Given the description of an element on the screen output the (x, y) to click on. 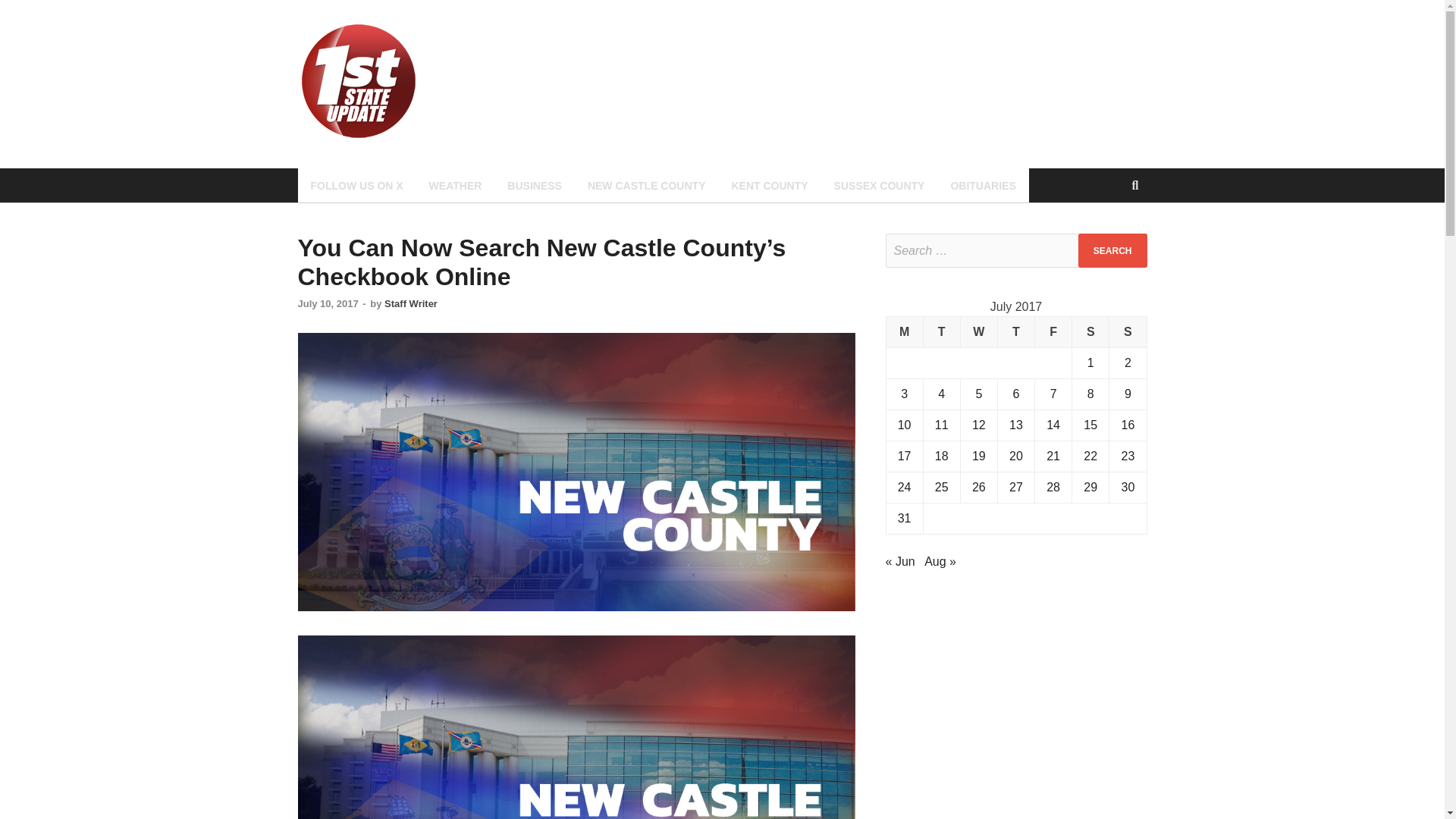
OBITUARIES (982, 185)
FOLLOW US ON X (355, 185)
BUSINESS (535, 185)
Thursday (1015, 332)
Friday (1053, 332)
15 (1090, 424)
Saturday (1090, 332)
19 (978, 455)
July 10, 2017 (327, 303)
First State Update (545, 51)
